Given the description of an element on the screen output the (x, y) to click on. 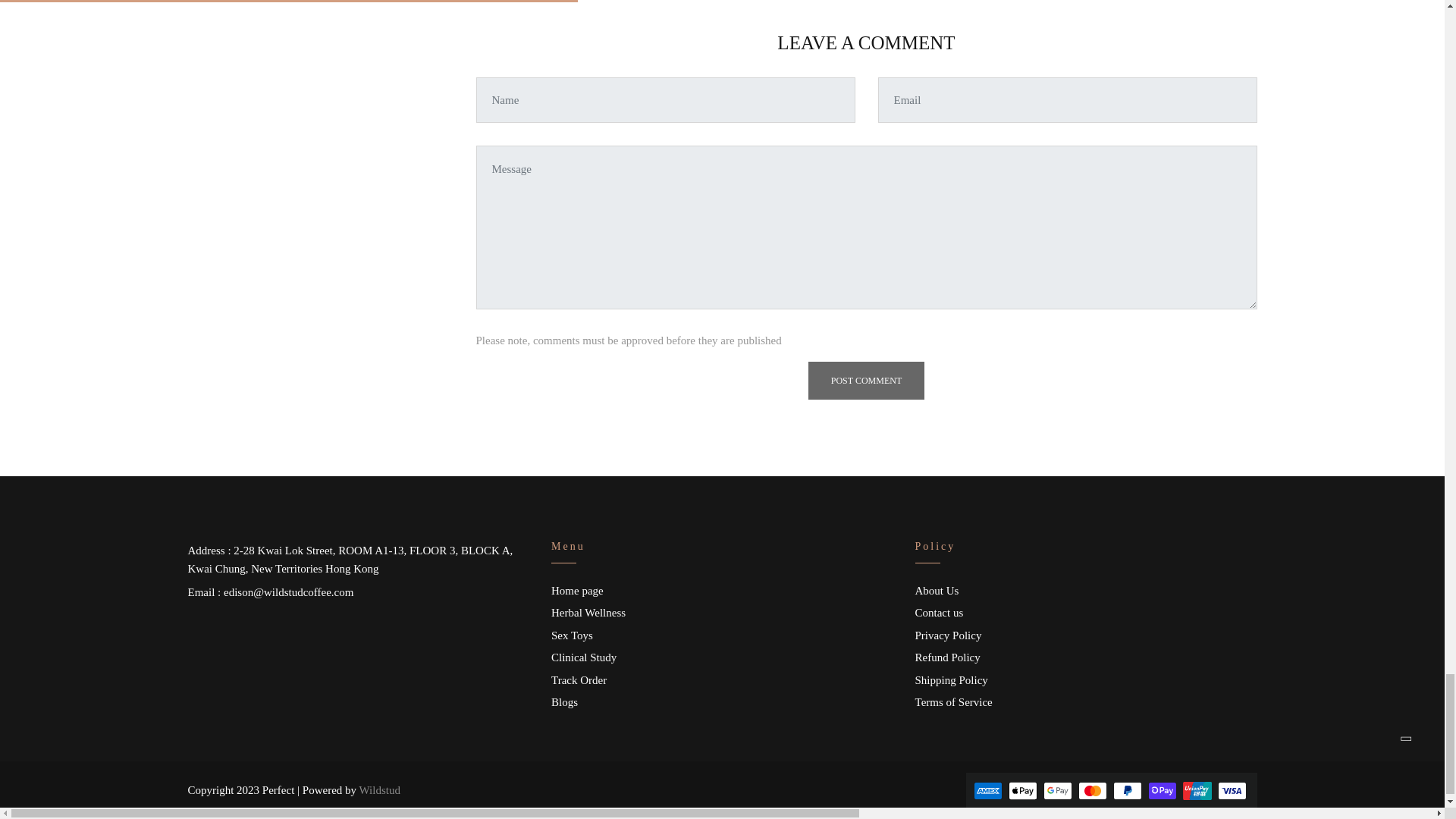
Post comment (866, 380)
